Given the description of an element on the screen output the (x, y) to click on. 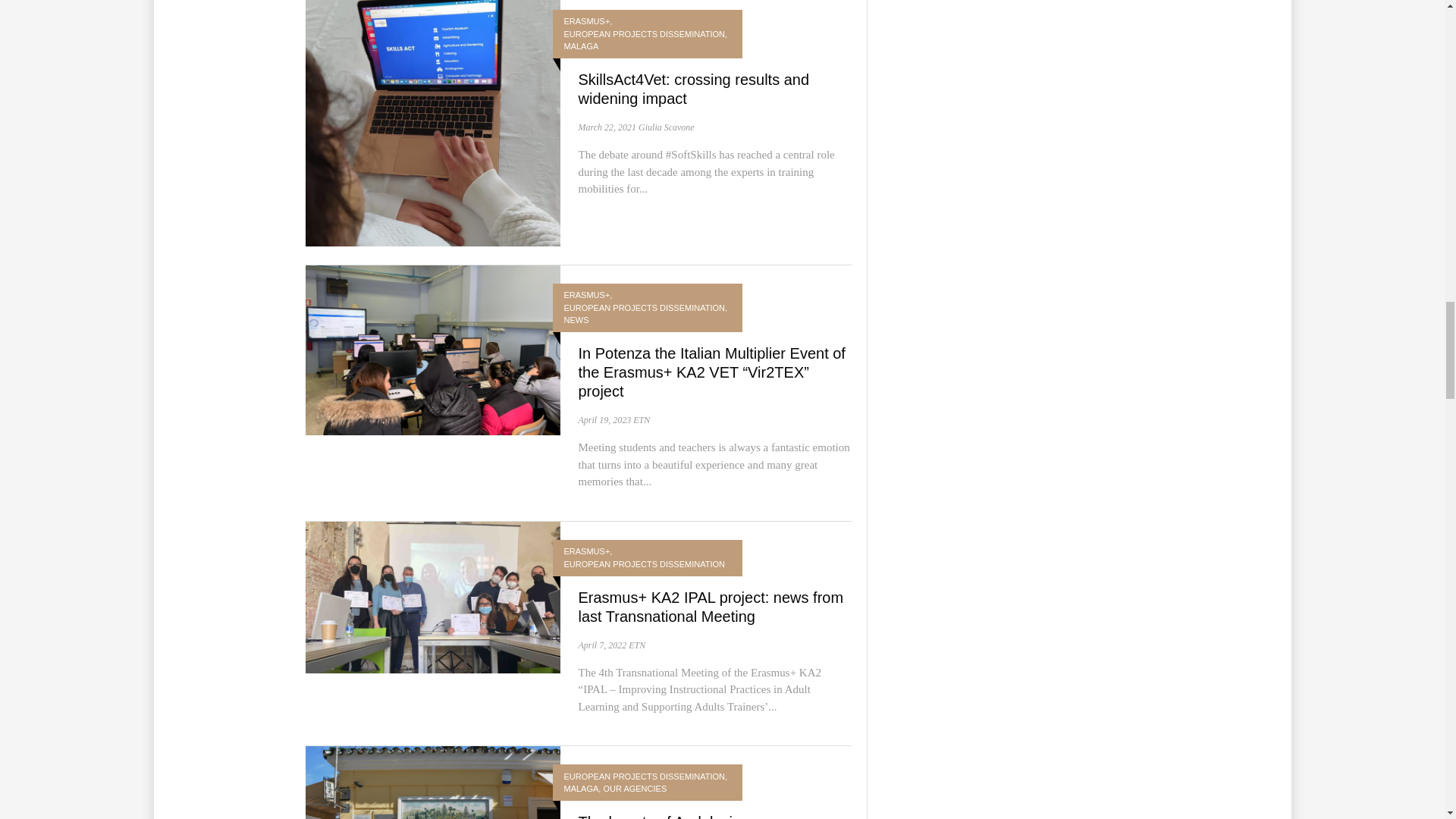
Posts by ETN (636, 644)
The beauty of Andalucia. (661, 816)
Posts by ETN (641, 419)
SkillsAct4Vet: crossing results and widening impact (693, 89)
SkillsAct4Vet: crossing results and widening impact (431, 117)
Posts by Giulia Scavone (666, 127)
